Given the description of an element on the screen output the (x, y) to click on. 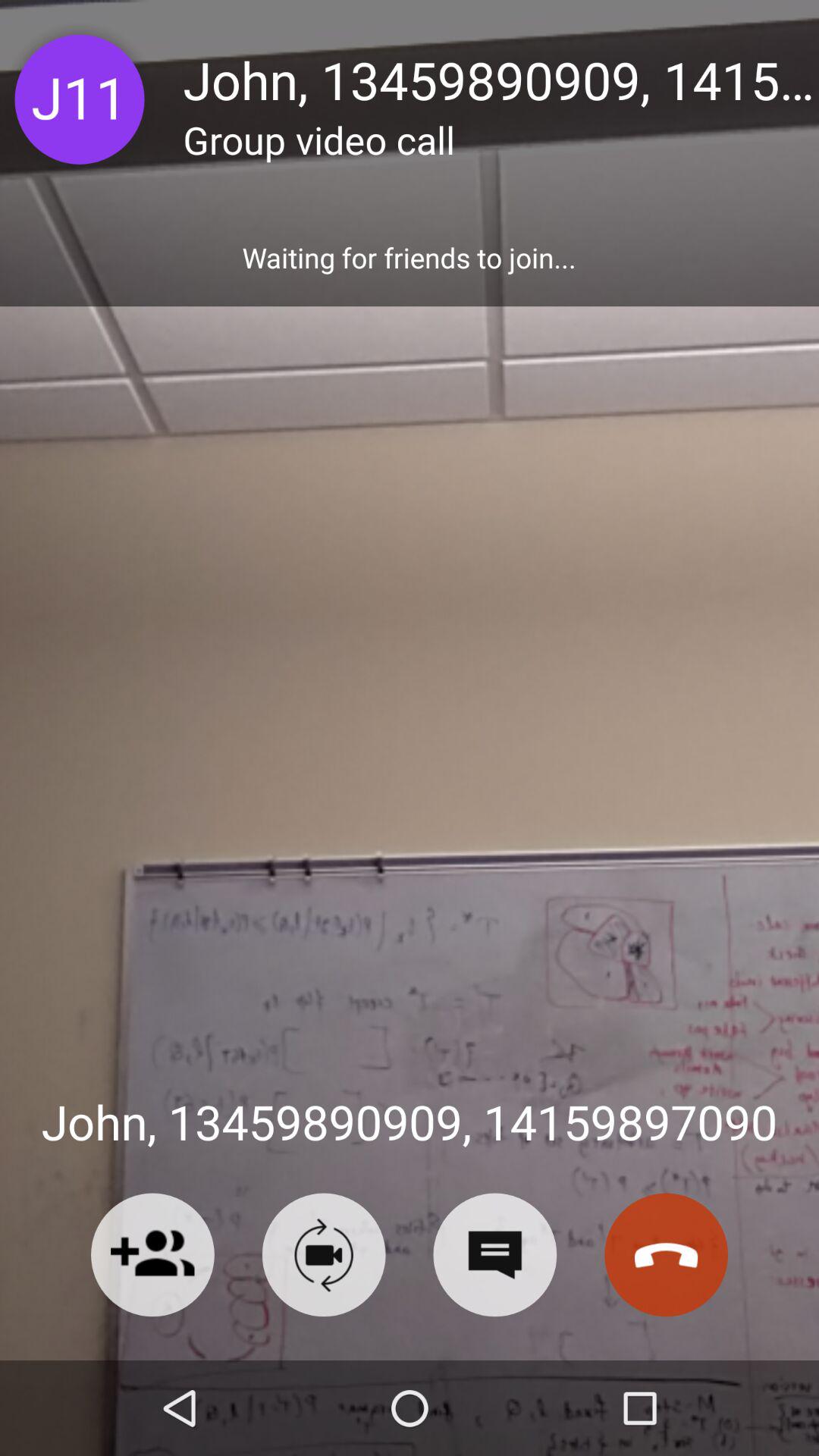
video (323, 1254)
